Given the description of an element on the screen output the (x, y) to click on. 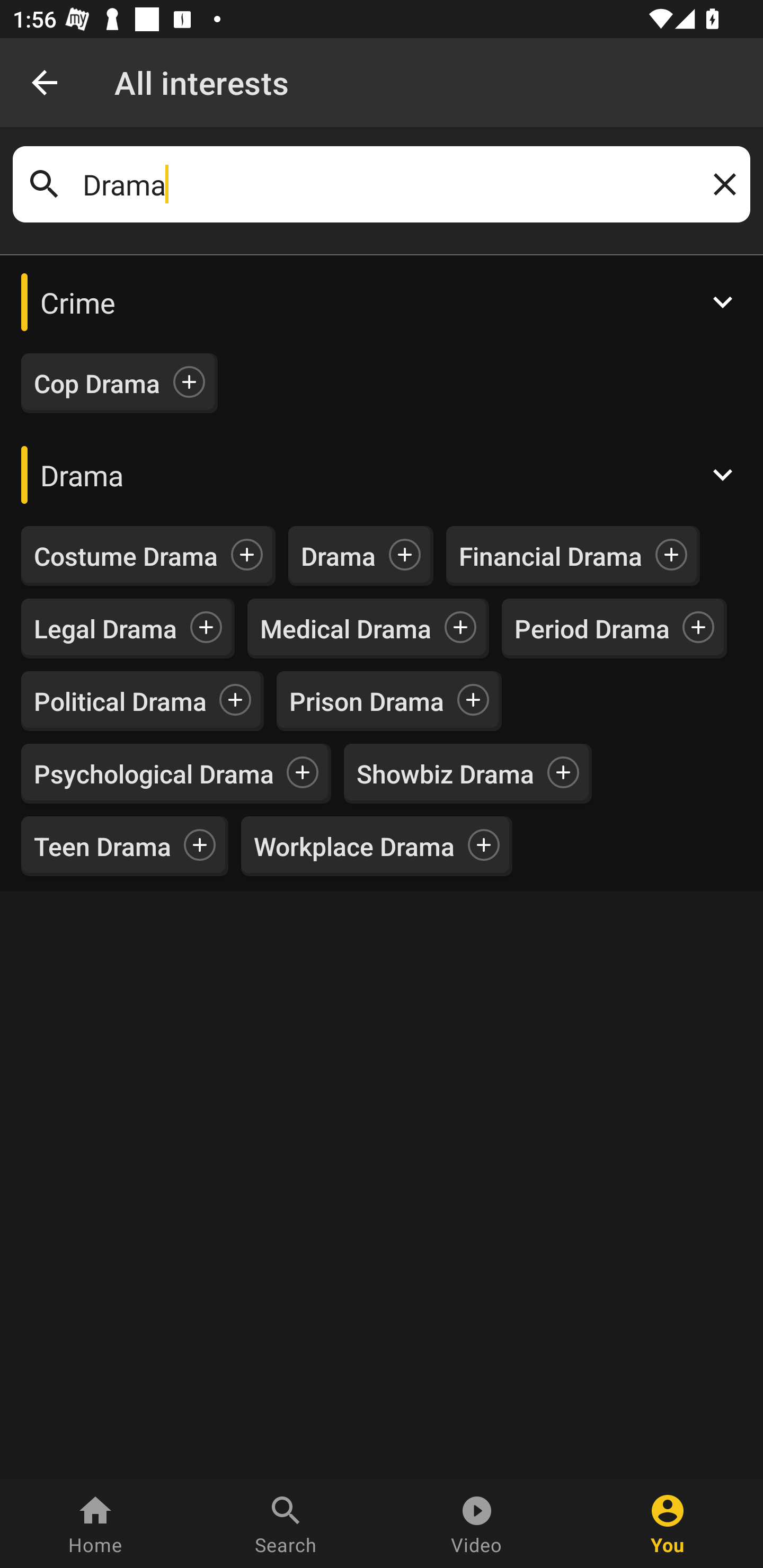
Clear query (721, 183)
Drama (381, 184)
Crime (381, 301)
Cop Drama (97, 382)
Drama (381, 474)
Costume Drama (126, 555)
Drama (338, 555)
Financial Drama (550, 555)
Legal Drama (105, 628)
Medical Drama (345, 628)
Period Drama (592, 628)
Political Drama (120, 700)
Prison Drama (366, 700)
Psychological Drama (153, 772)
Showbiz Drama (445, 772)
Teen Drama (102, 846)
Workplace Drama (354, 846)
Home (95, 1523)
Search (285, 1523)
Video (476, 1523)
